Given the description of an element on the screen output the (x, y) to click on. 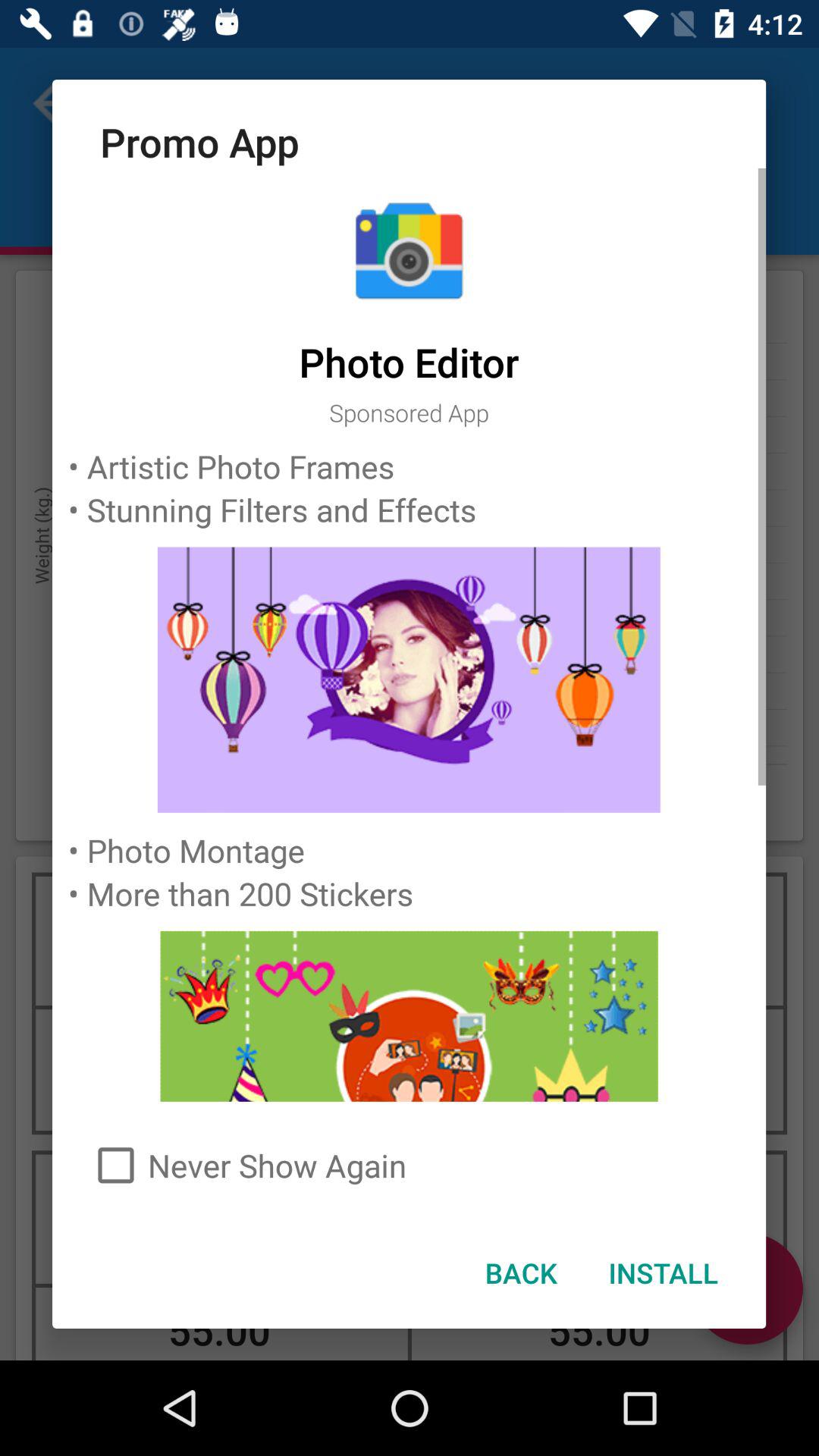
swipe until back (520, 1272)
